Given the description of an element on the screen output the (x, y) to click on. 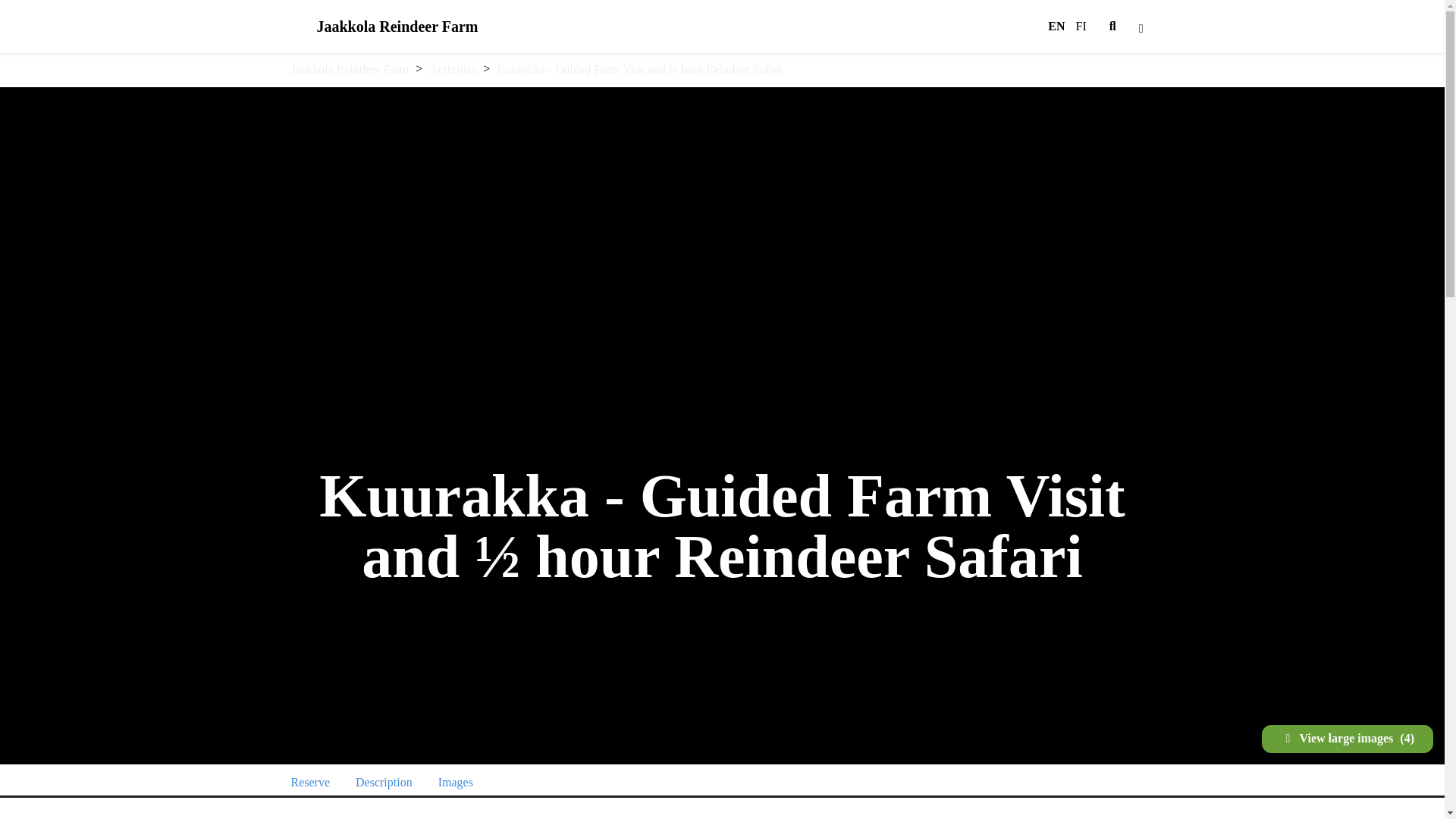
Reserve (384, 26)
Jaakkola Reindeer Farm (310, 782)
Activities (348, 68)
Description (452, 68)
Images (384, 782)
